Given the description of an element on the screen output the (x, y) to click on. 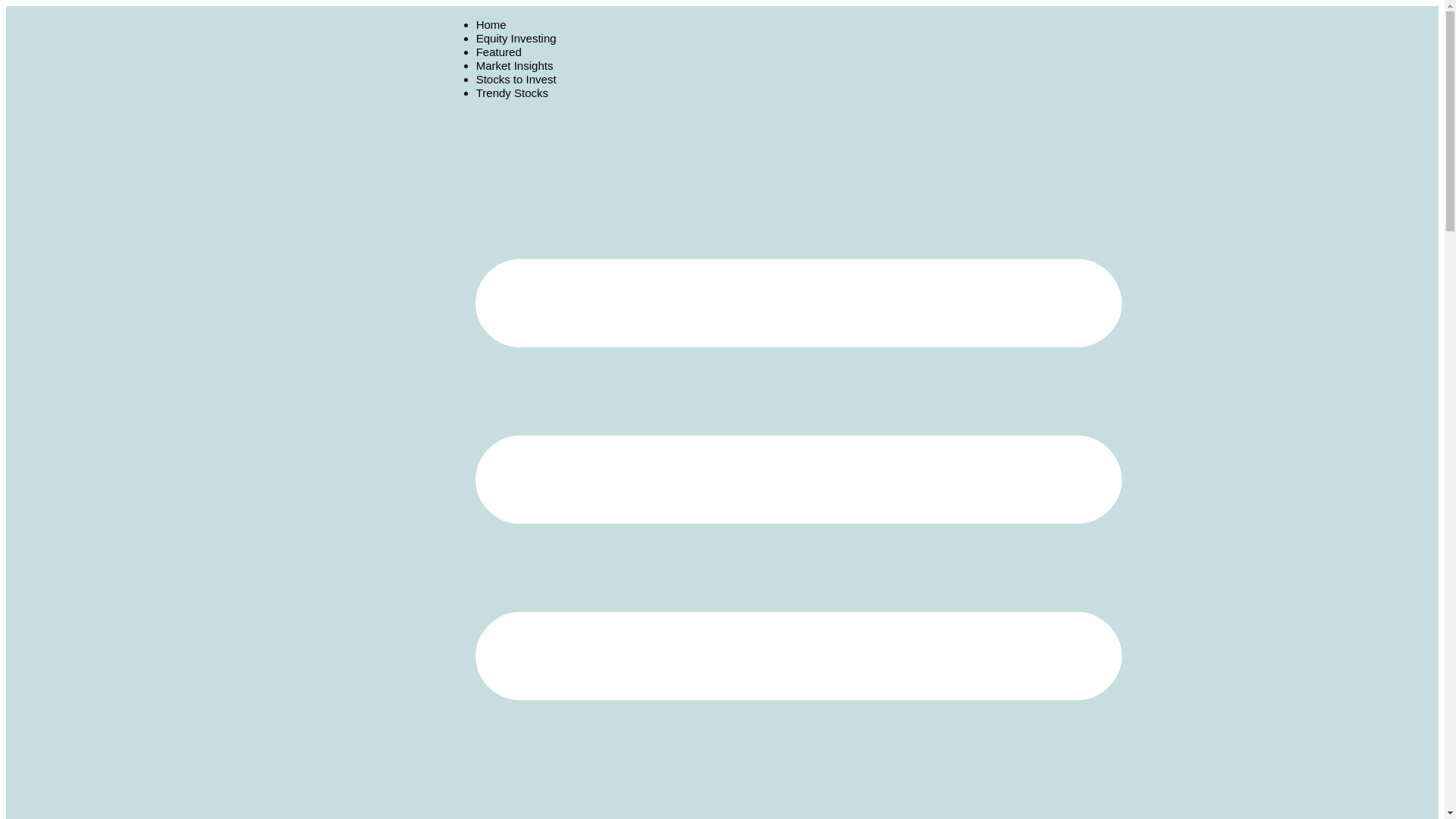
Home (491, 24)
Trendy Stocks (512, 92)
Equity Investing (516, 38)
Featured (498, 51)
Stocks to Invest (516, 78)
Market Insights (514, 65)
